Given the description of an element on the screen output the (x, y) to click on. 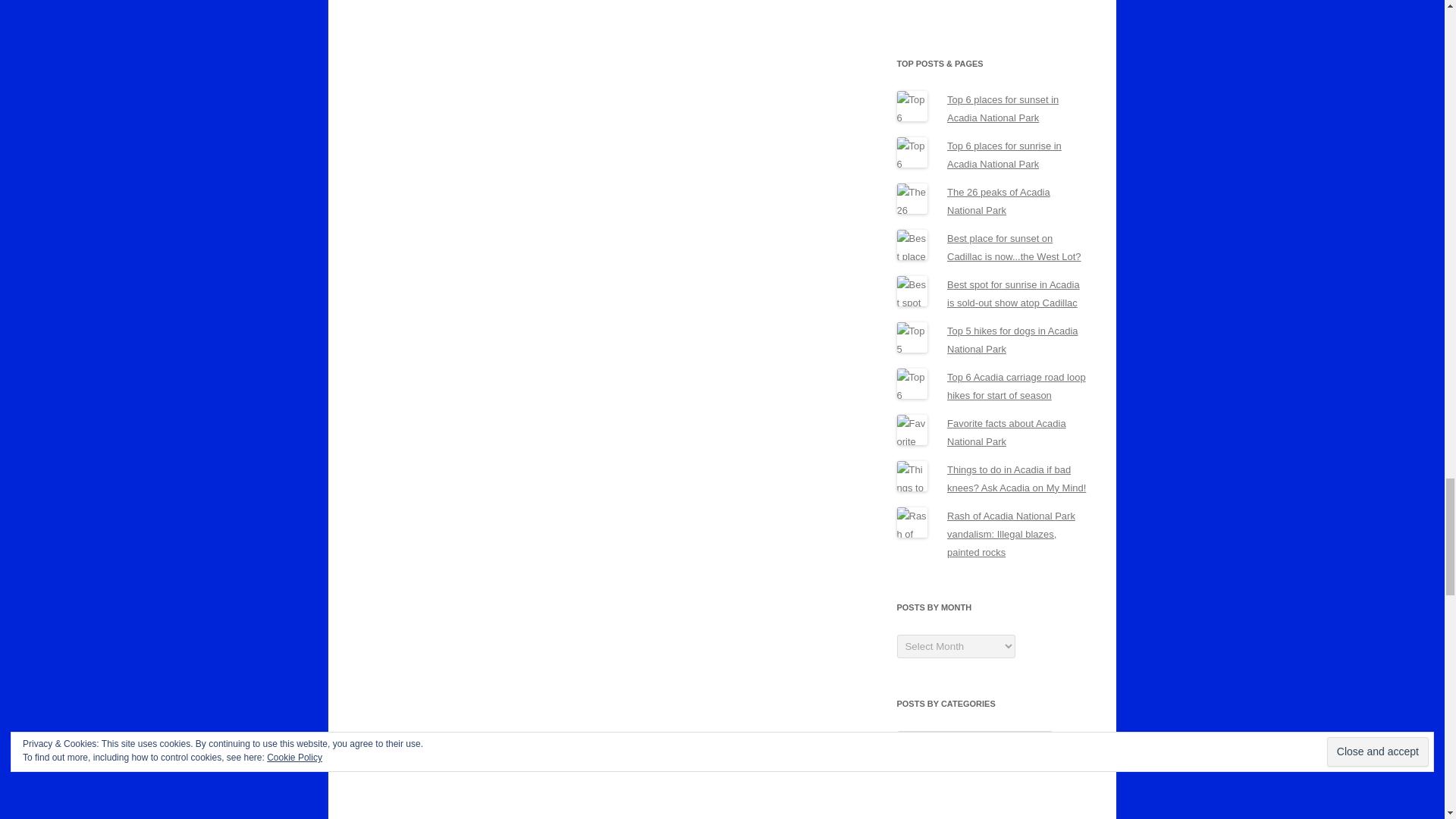
The 26 peaks of Acadia National Park (998, 201)
Top 6 places for sunrise in Acadia National Park (1004, 154)
Top 6 places for sunset in Acadia National Park (1002, 108)
